Given the description of an element on the screen output the (x, y) to click on. 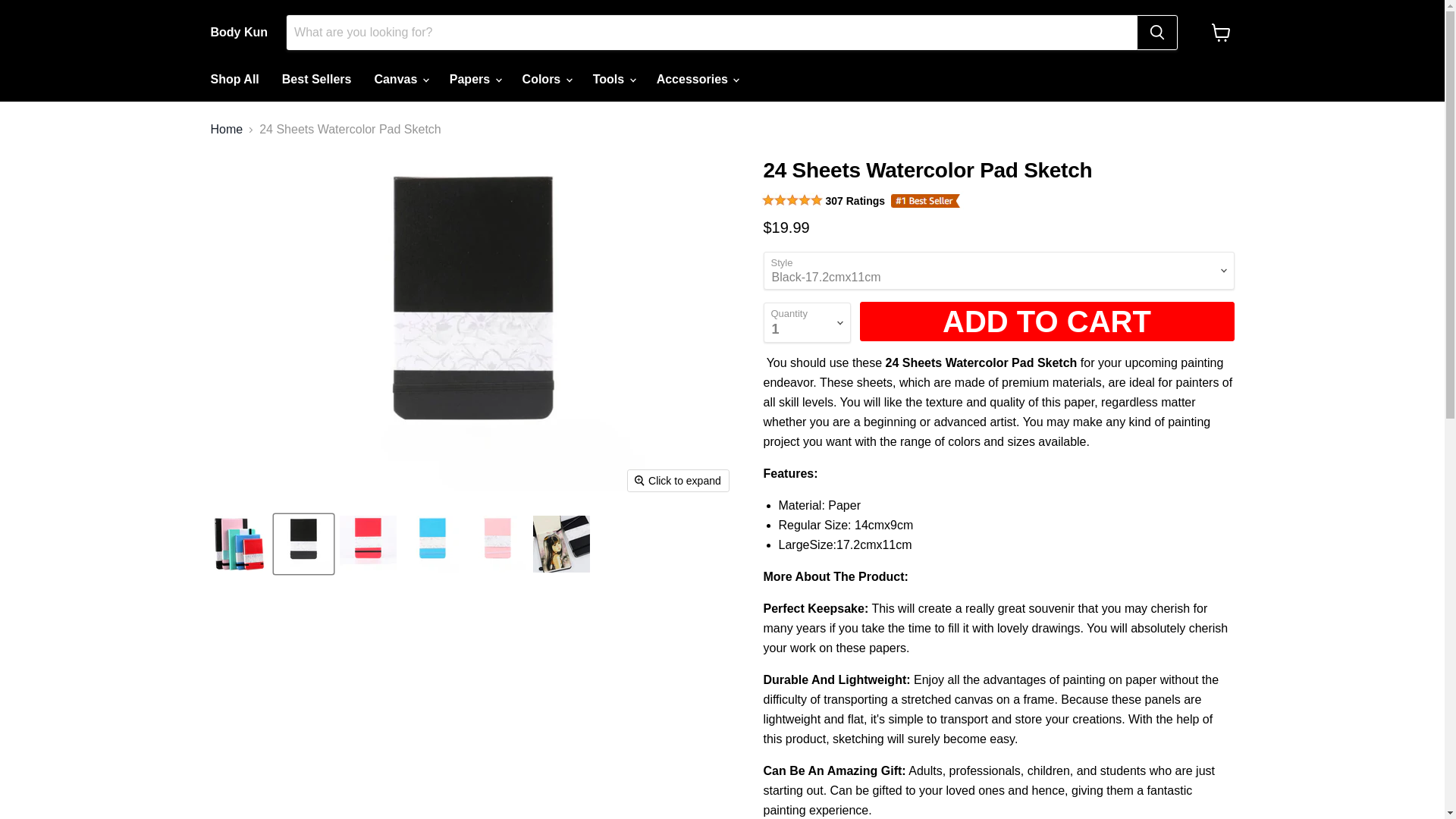
Body Kun (239, 32)
Best Sellers (316, 79)
Shop All (233, 79)
View cart (1221, 32)
